Given the description of an element on the screen output the (x, y) to click on. 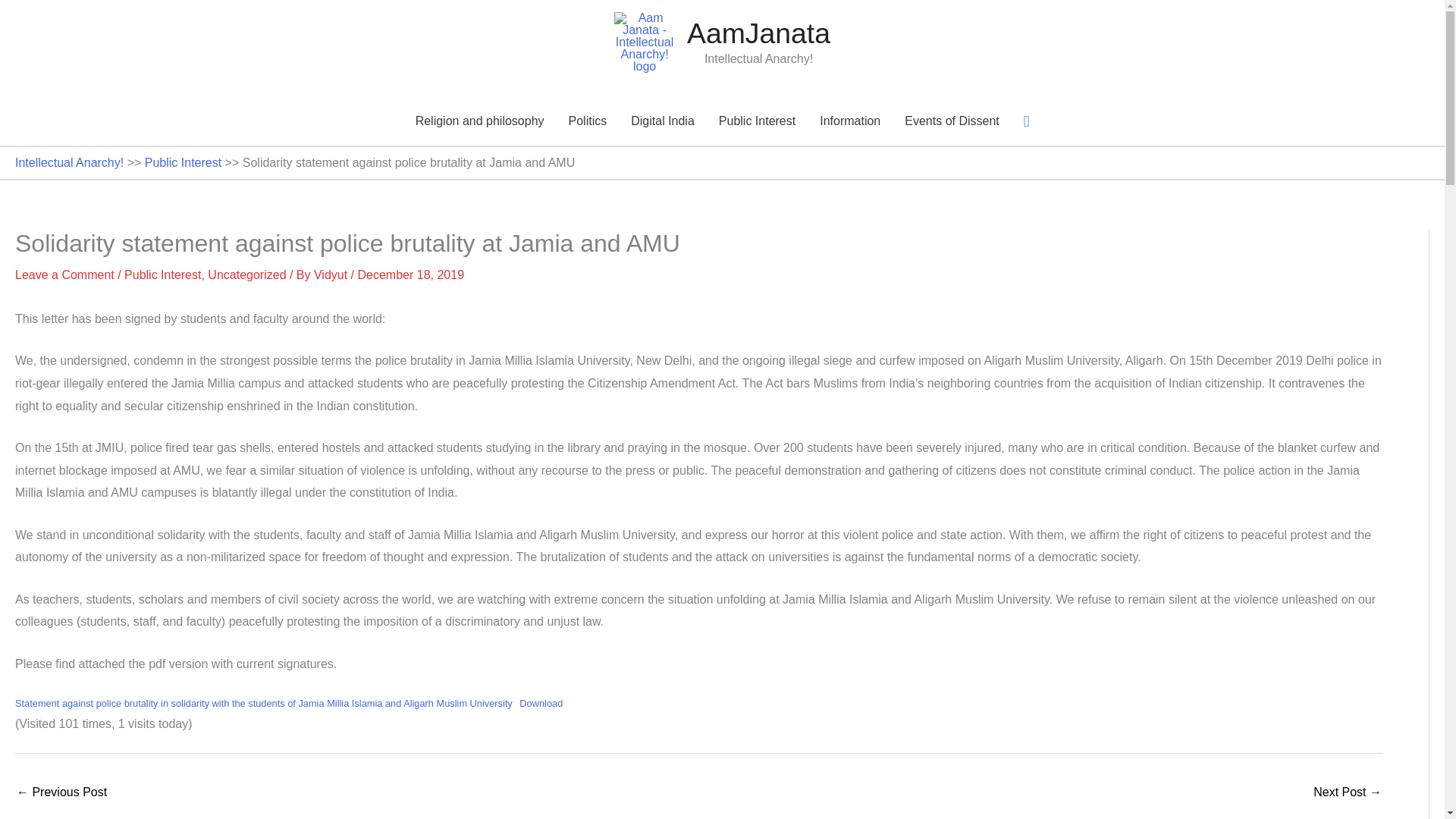
Download (540, 703)
Uncategorized (246, 274)
Leave a Comment (64, 274)
AamJanata (758, 33)
Public Interest (757, 121)
Public Interest (182, 162)
Information (850, 121)
